Given the description of an element on the screen output the (x, y) to click on. 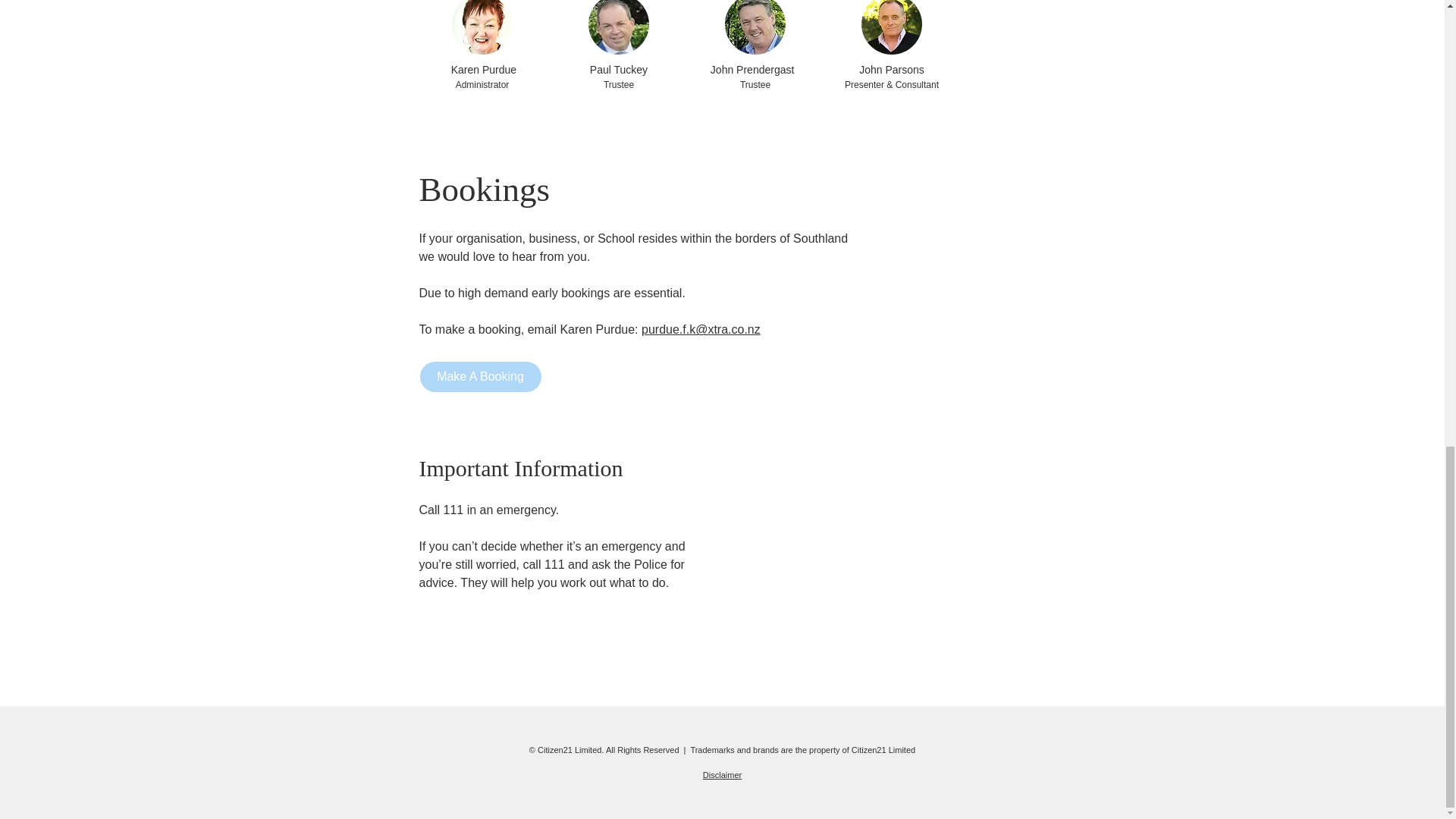
Disclaimer (722, 774)
Make A Booking (480, 376)
